Given the description of an element on the screen output the (x, y) to click on. 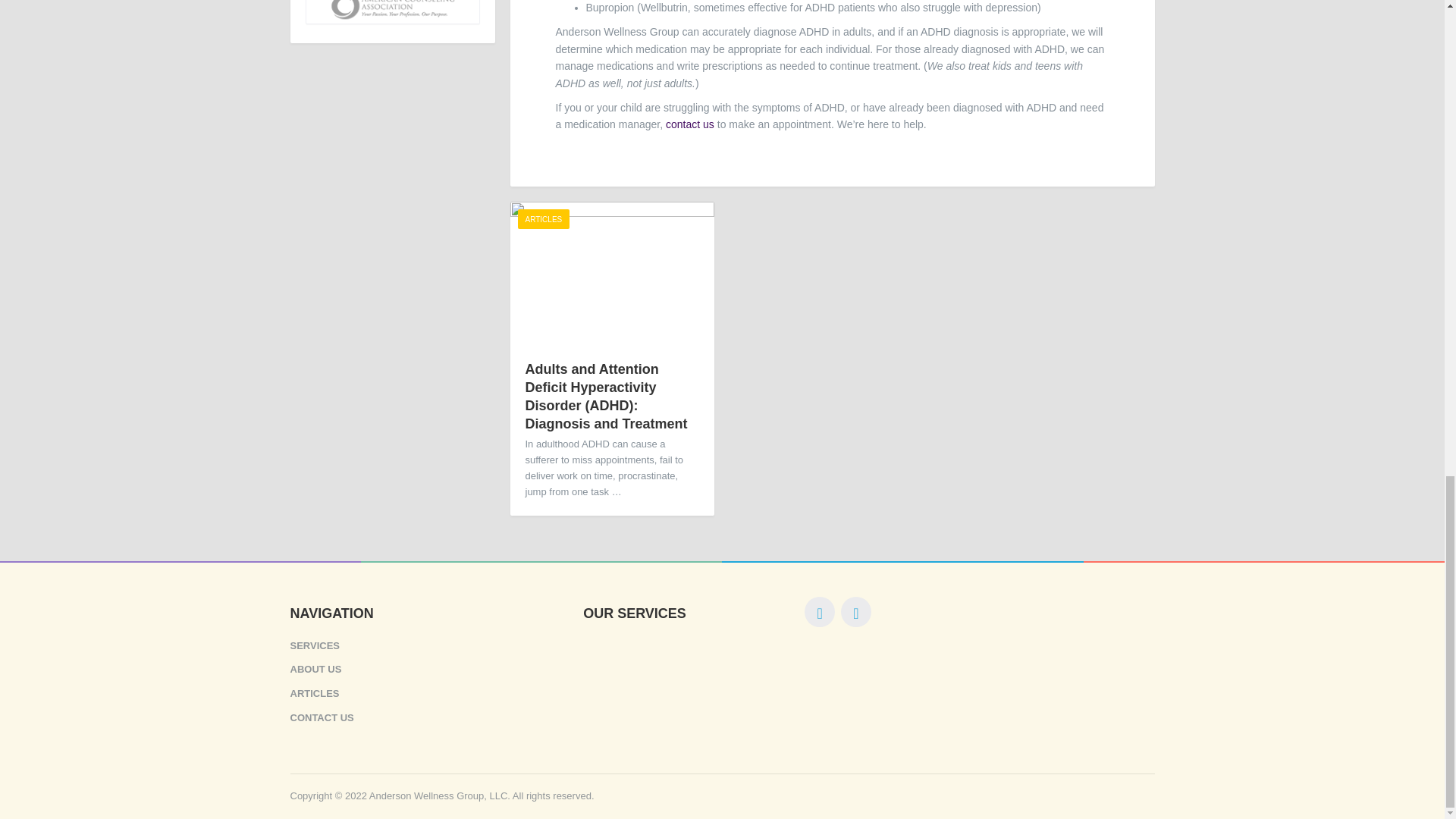
CONTACT US (428, 718)
contact us (689, 123)
ABOUT US (428, 670)
SERVICES (428, 647)
ARTICLES (428, 693)
ARTICLES (542, 219)
